Given the description of an element on the screen output the (x, y) to click on. 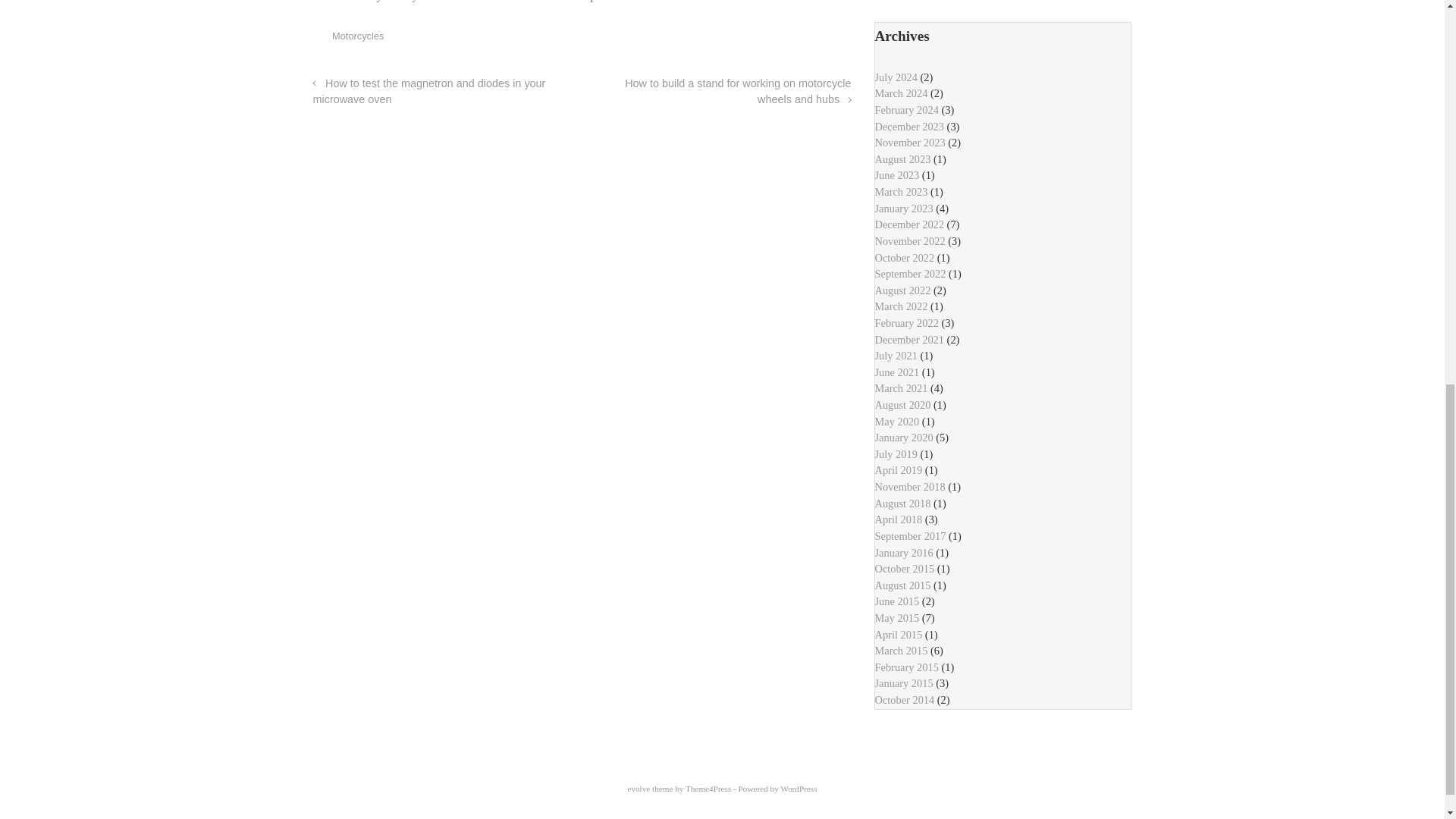
Share on Facebook (777, 39)
Share by Email (822, 39)
Share on Twitter (755, 39)
Share on Pinterest (799, 39)
More options (843, 39)
